Given the description of an element on the screen output the (x, y) to click on. 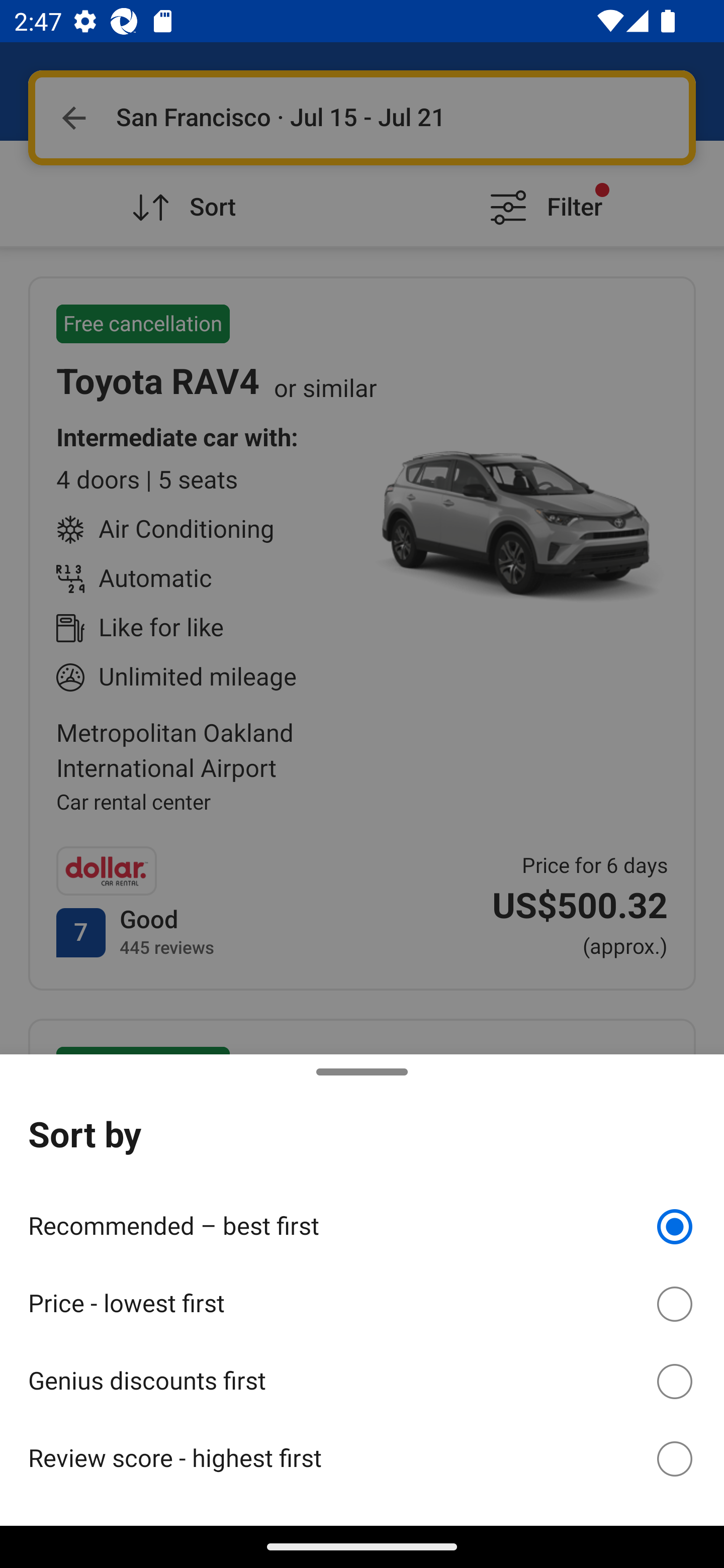
Price - lowest first (361, 1300)
Genius discounts first (361, 1378)
Review score - highest first (361, 1458)
